Given the description of an element on the screen output the (x, y) to click on. 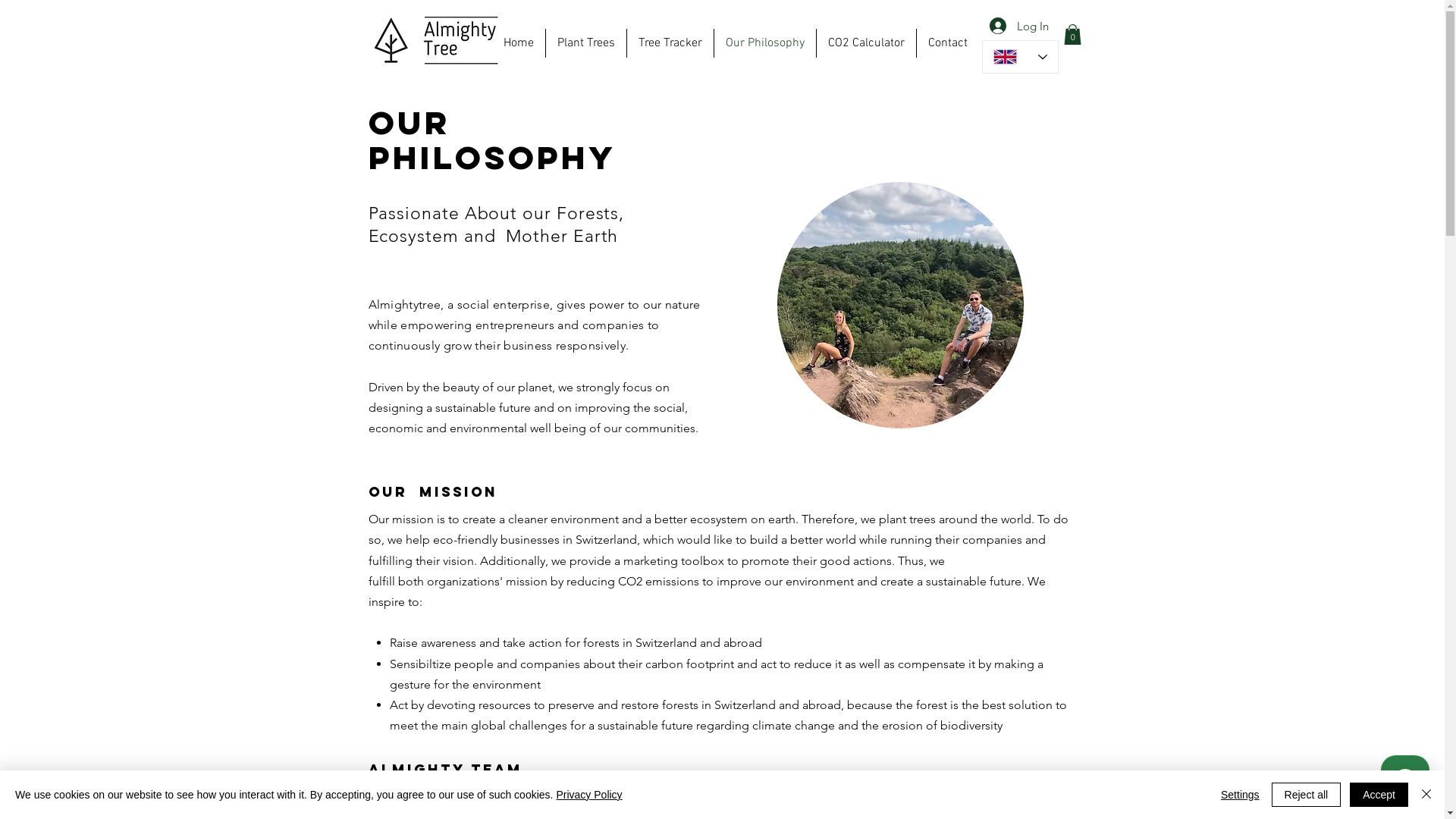
Home Element type: text (517, 42)
Tree Tracker Element type: text (669, 42)
Plant Trees Element type: text (586, 42)
CO2 Calculator Element type: text (865, 42)
Accept Element type: text (1378, 794)
Log In Element type: text (1018, 25)
0 Element type: text (1071, 34)
Contact Element type: text (947, 42)
Privacy Policy Element type: text (588, 794)
Reject all Element type: text (1306, 794)
Our Philosophy Element type: text (764, 42)
